Given the description of an element on the screen output the (x, y) to click on. 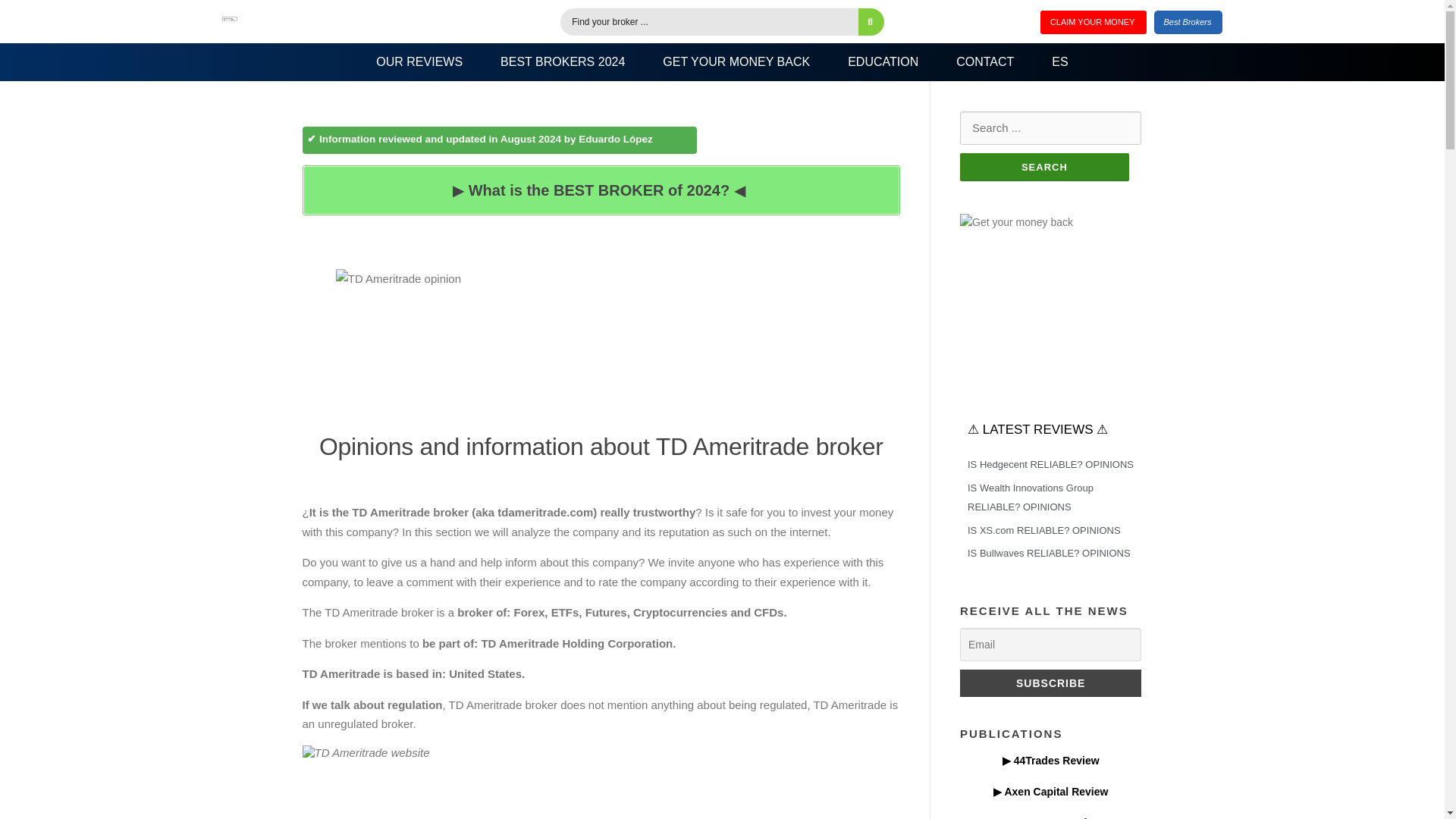
CLAIM YOUR MONEY (1094, 22)
Search (1044, 166)
TD Ameritrade website (600, 782)
TD Ameritrade opinion (601, 344)
Search (1044, 166)
Subscribe (1050, 682)
Best Brokers (1188, 22)
